Given the description of an element on the screen output the (x, y) to click on. 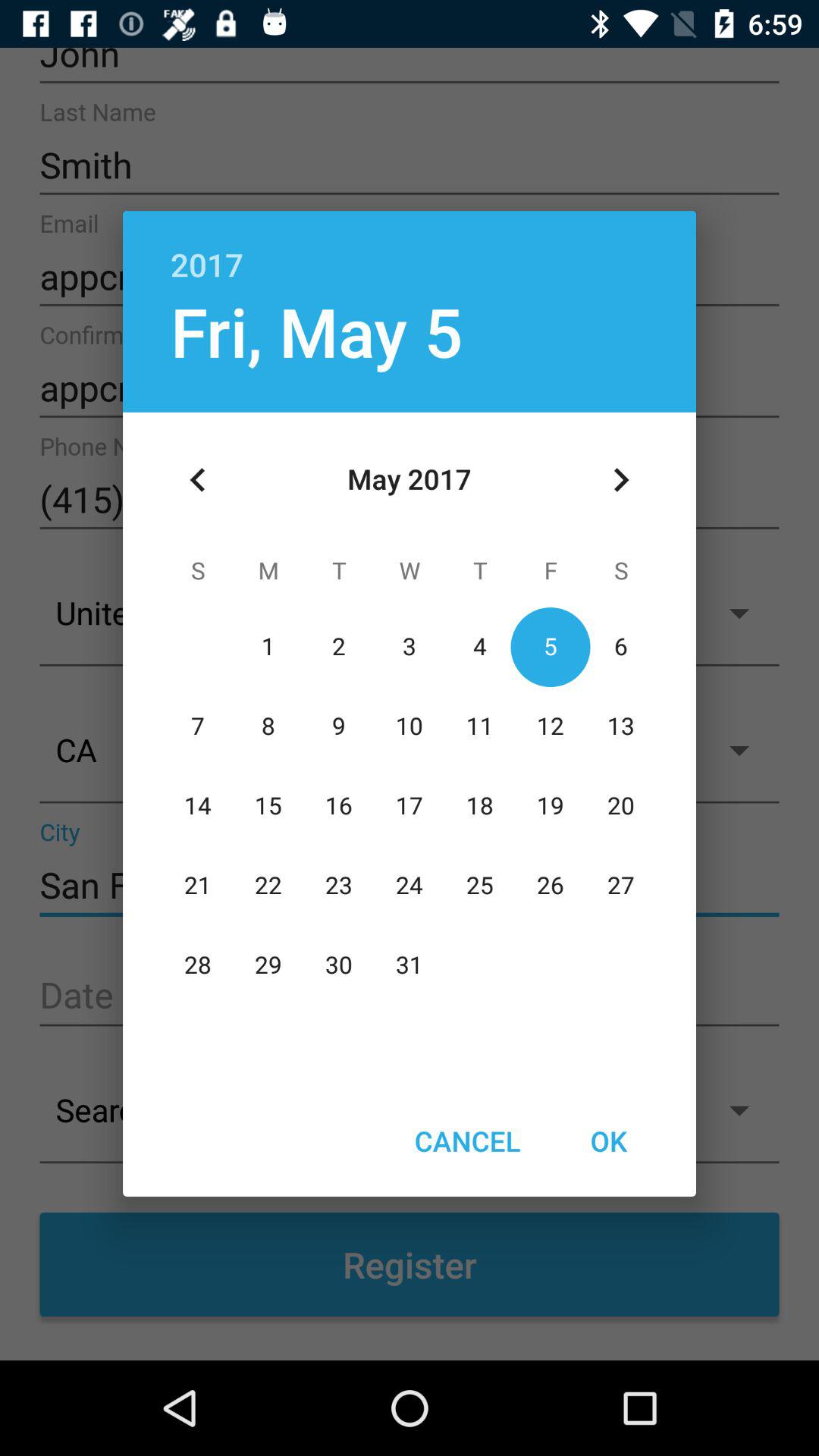
tap cancel icon (467, 1140)
